Given the description of an element on the screen output the (x, y) to click on. 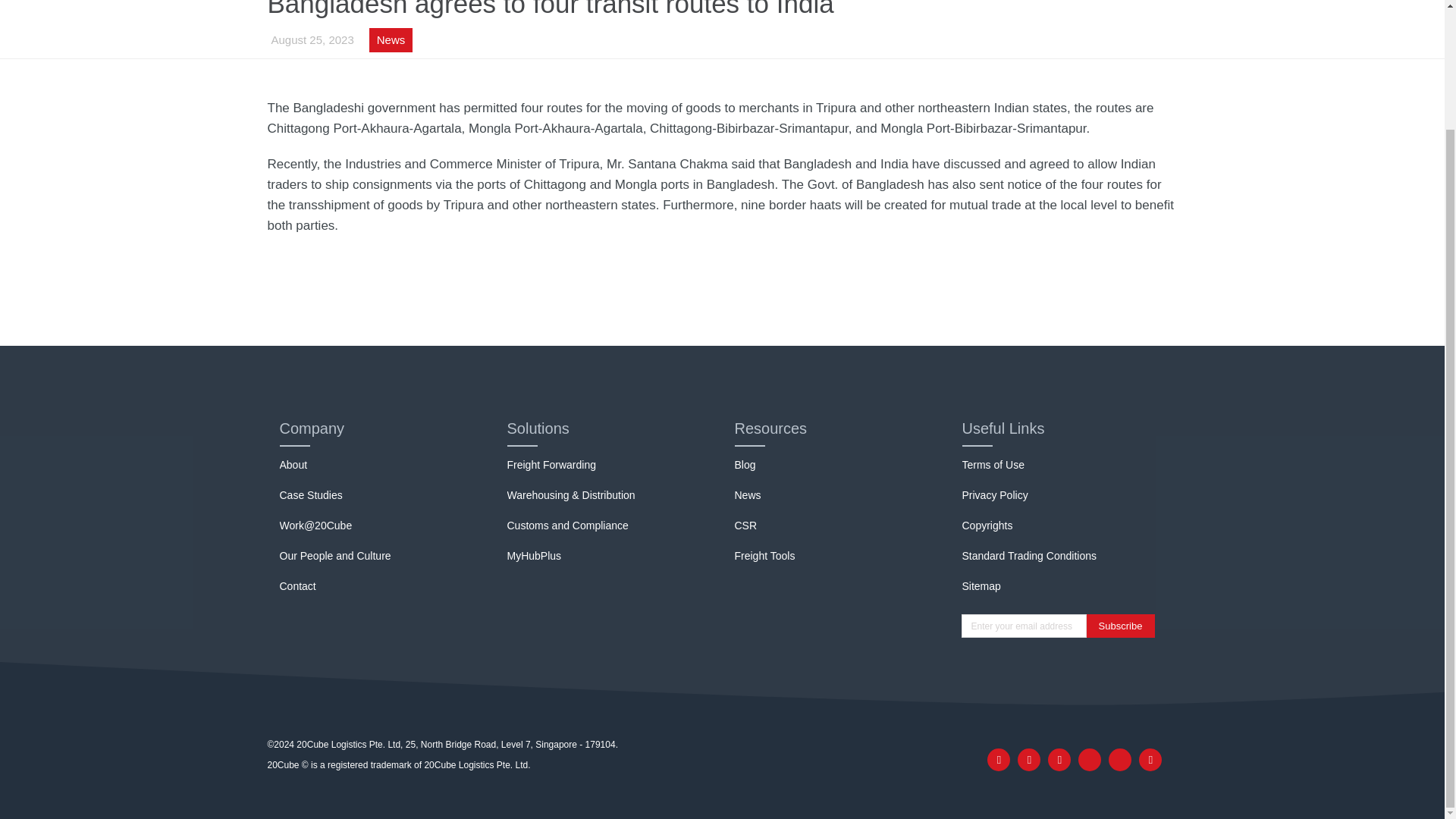
X (1089, 759)
instagram (1119, 759)
